Given the description of an element on the screen output the (x, y) to click on. 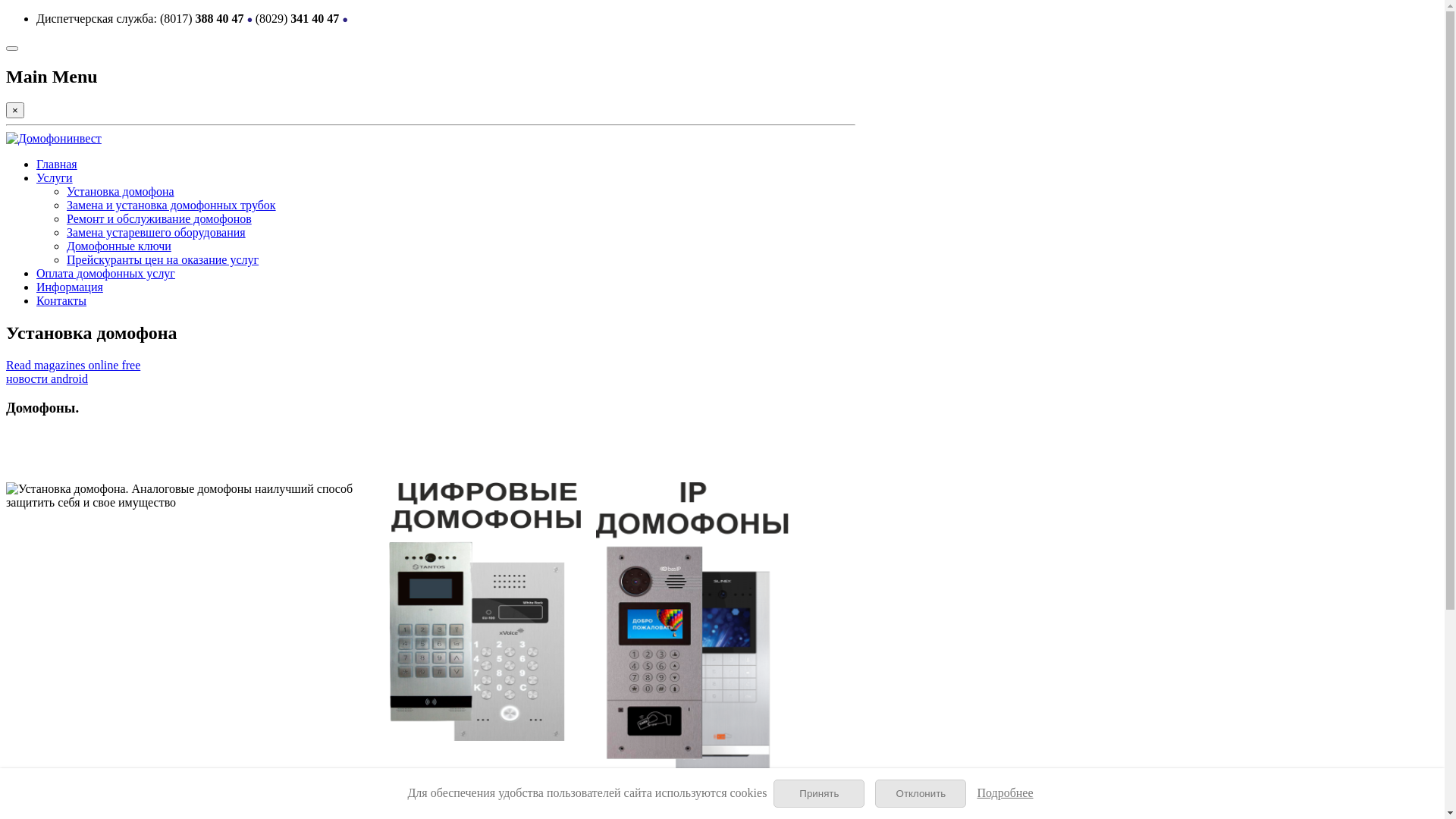
Read magazines online free Element type: text (73, 364)
